Given the description of an element on the screen output the (x, y) to click on. 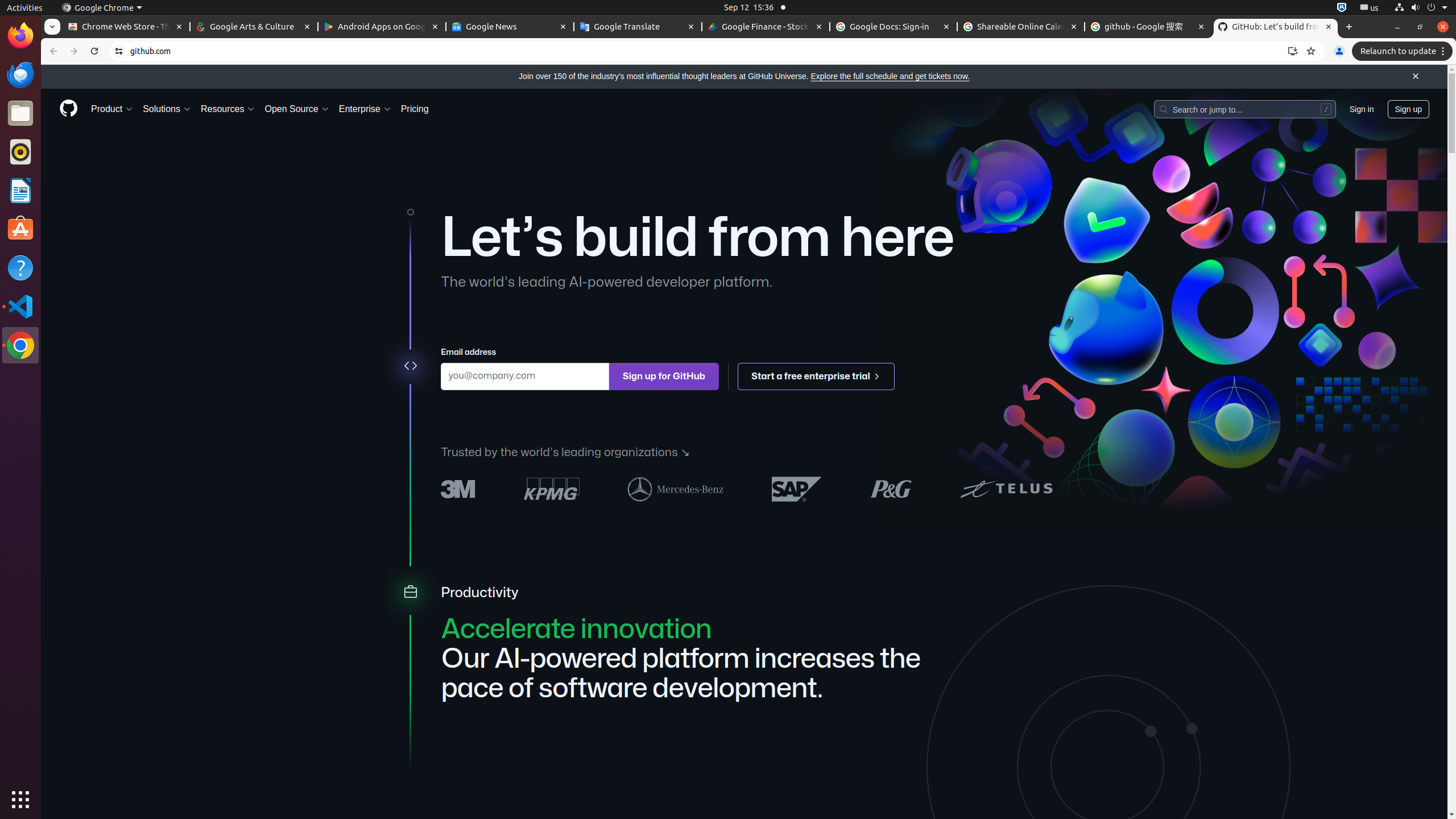
Skip to content Element type: link (40, 64)
Enterprise Element type: push-button (364, 108)
Start a free enterprise trial  Element type: link (816, 376)
Explore the full schedule and get tickets now. Element type: link (889, 75)
Reload Element type: push-button (94, 50)
